Given the description of an element on the screen output the (x, y) to click on. 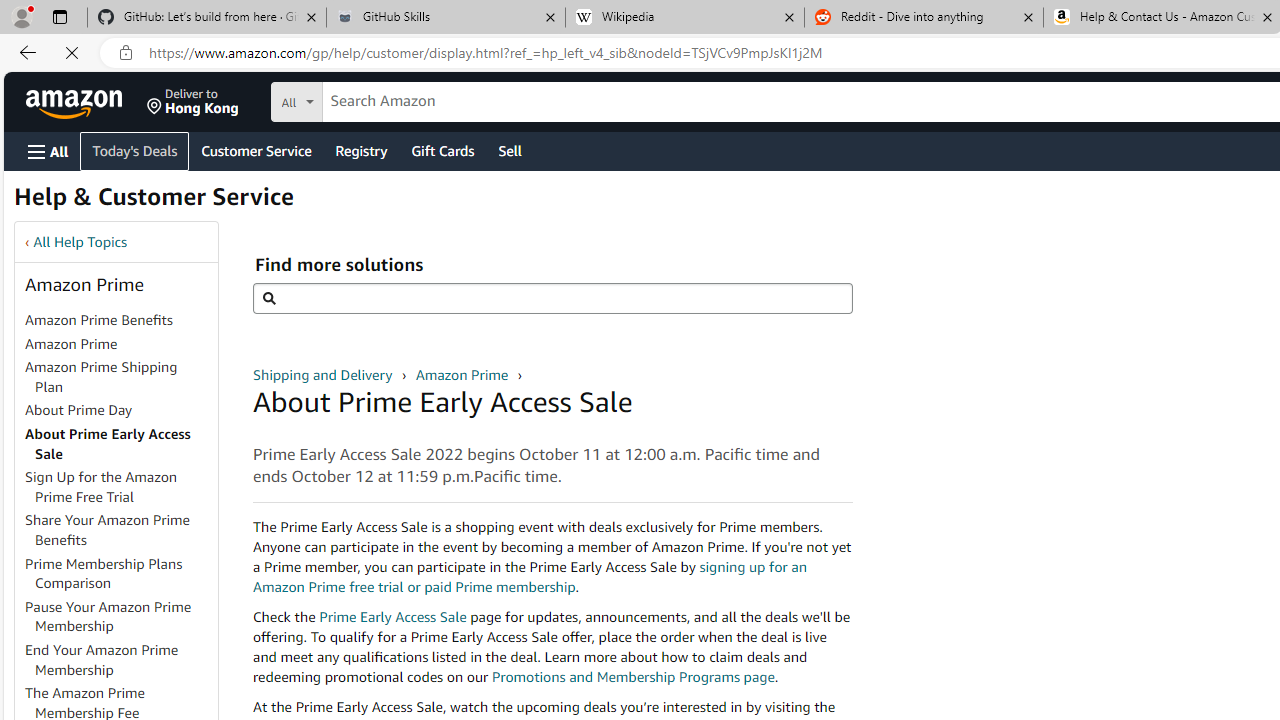
Amazon Resale (399, 187)
Outlet (319, 187)
Search in (371, 99)
Sell (509, 150)
Registry (360, 150)
Renewed Deals (237, 187)
Reddit - Dive into anything (924, 17)
Open Menu (48, 151)
Amazon (76, 101)
GitHub Skills (445, 17)
